Given the description of an element on the screen output the (x, y) to click on. 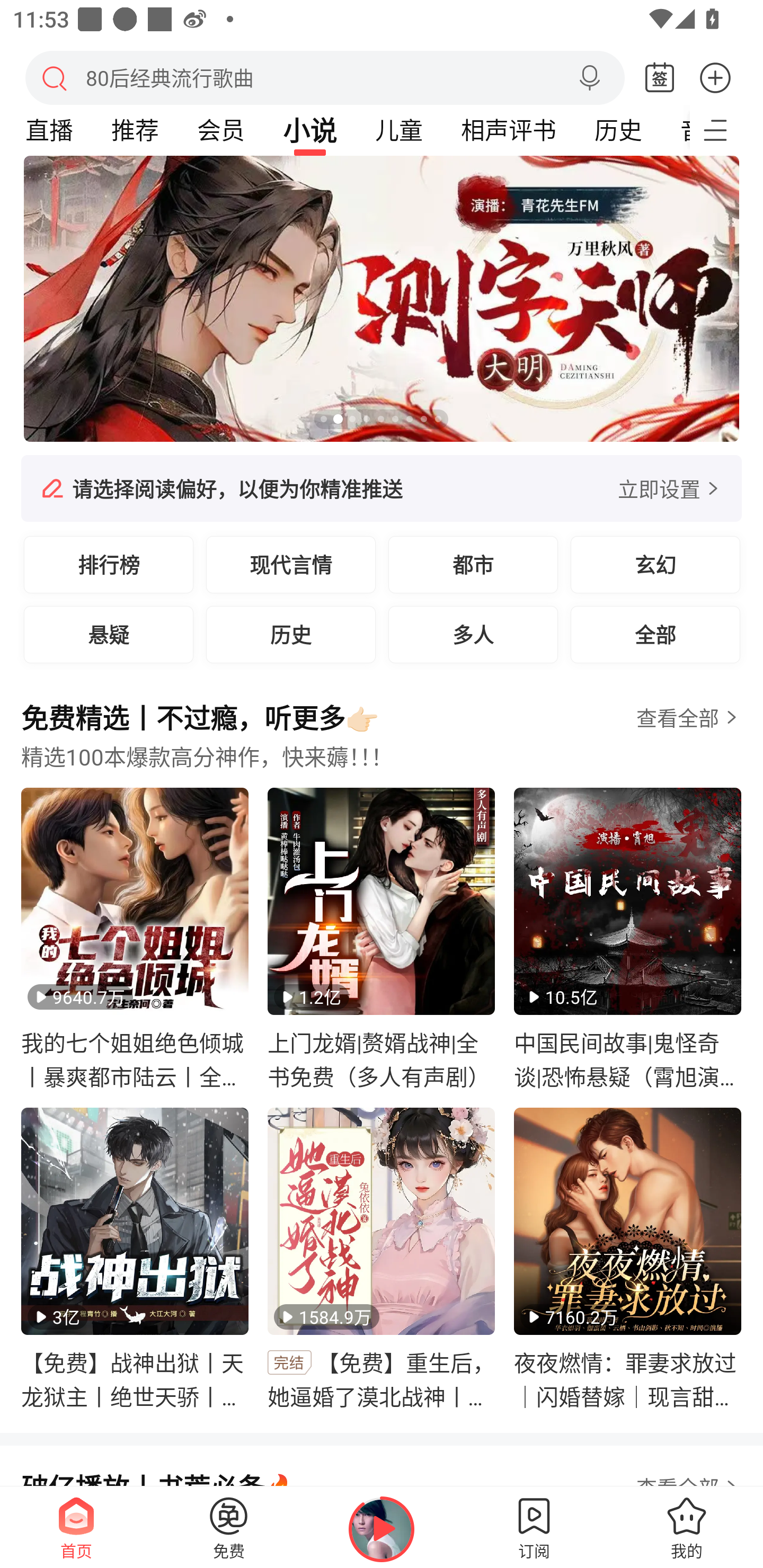
搜索 80后经典流行歌曲 语音搜索 (324, 77)
更多 (714, 77)
签到 (659, 78)
语音搜索 (589, 78)
直播 (49, 130)
推荐 (134, 130)
会员 (220, 130)
小说 (309, 130)
儿童 (398, 130)
相声评书 (508, 130)
历史 (618, 130)
更多频道 (726, 130)
焦点图 (381, 298)
请选择阅读偏好，以便为你精准推送 立即设置 (381, 488)
排行榜 (108, 563)
现代言情 (290, 563)
都市 (473, 563)
玄幻 (655, 563)
悬疑 (108, 633)
历史 (290, 633)
多人 (473, 633)
全部 (655, 633)
免费精选丨不过瘾，听更多👉🏻 查看全部 精选100本爆款高分神作，快来薅！！！ (381, 742)
查看全部 (677, 718)
9640.7万 我的七个姐姐绝色倾城丨暴爽都市陆云丨全本免费 (134, 939)
1.2亿 上门龙婿|赘婿战神|全书免费（多人有声剧） (381, 939)
10.5亿 中国民间故事|鬼怪奇谈|恐怖悬疑（霄旭演播） (627, 939)
3亿 【免费】战神出狱丨天龙狱主丨绝世天骄丨爆款上门龙婿 (134, 1259)
1584.9万   【免费】重生后，她逼婚了漠北战神丨虐渣复仇丨情深不负丨AI多播 (381, 1259)
7160.2万 夜夜燃情：罪妻求放过｜闪婚替嫁｜现言甜宠｜全本免费 (627, 1259)
首页 (76, 1526)
免费 (228, 1526)
订阅 (533, 1526)
我的 (686, 1526)
继续播放Alpha-橘子海OrangeOcean (381, 1529)
